Given the description of an element on the screen output the (x, y) to click on. 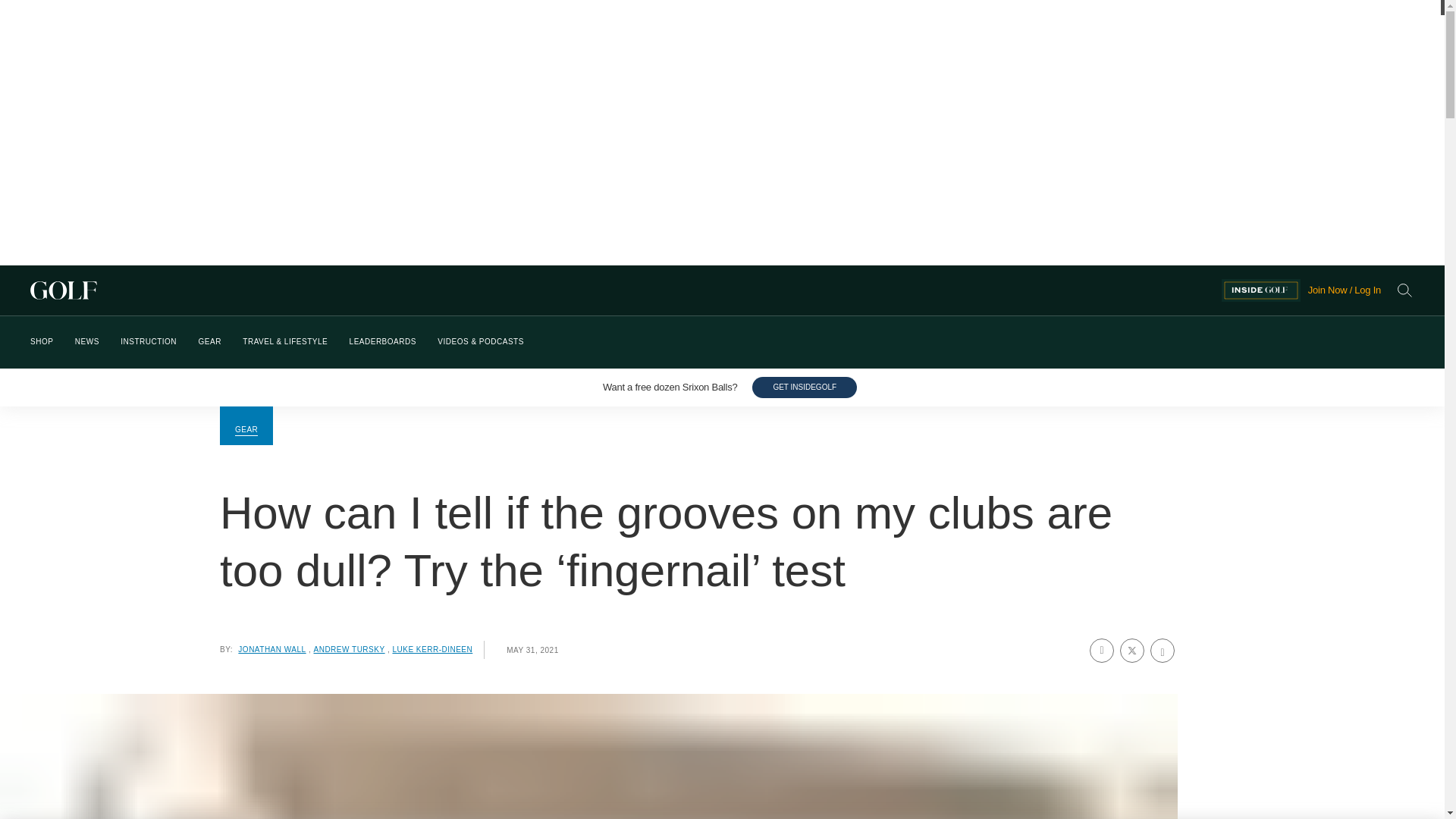
NEWS (87, 341)
Golf logo. Back to home. (625, 290)
INSTRUCTION (148, 341)
Golf Logo (625, 290)
SHOP (41, 341)
